Given the description of an element on the screen output the (x, y) to click on. 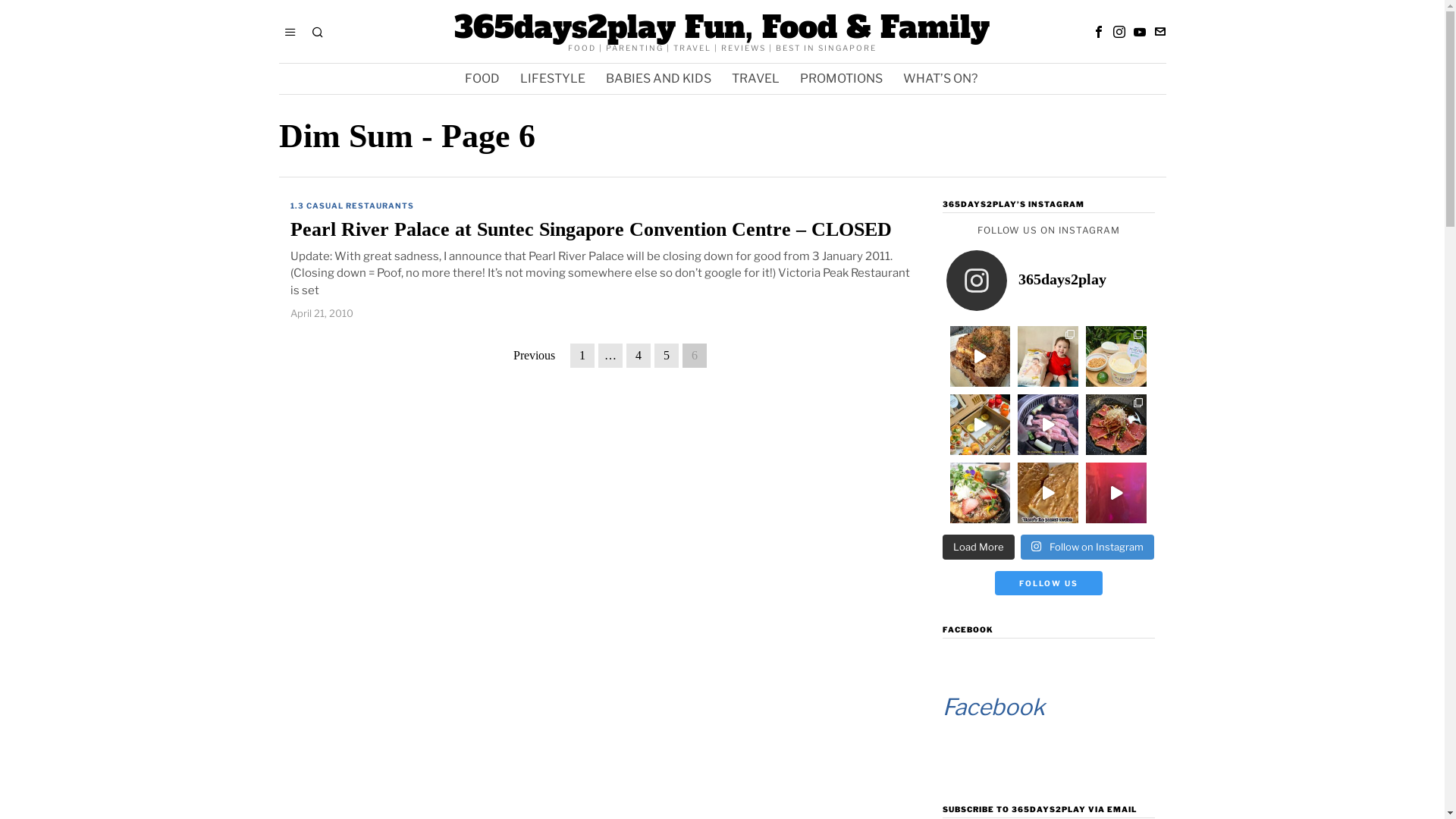
Previous Element type: text (534, 355)
BABIES AND KIDS Element type: text (659, 78)
1 Element type: text (582, 355)
FOOD Element type: text (483, 78)
Facebook Element type: text (992, 706)
5 Element type: text (665, 355)
4 Element type: text (638, 355)
TRAVEL Element type: text (756, 78)
1.3 CASUAL RESTAURANTS Element type: text (351, 206)
Follow on Instagram Element type: text (1086, 547)
Load More Element type: text (978, 547)
365days2play Fun, Food & Family Element type: text (721, 26)
FOLLOW US Element type: text (1048, 583)
LIFESTYLE Element type: text (553, 78)
PROMOTIONS Element type: text (842, 78)
FACEBOOK Element type: text (966, 628)
365days2play Element type: text (1048, 280)
